Given the description of an element on the screen output the (x, y) to click on. 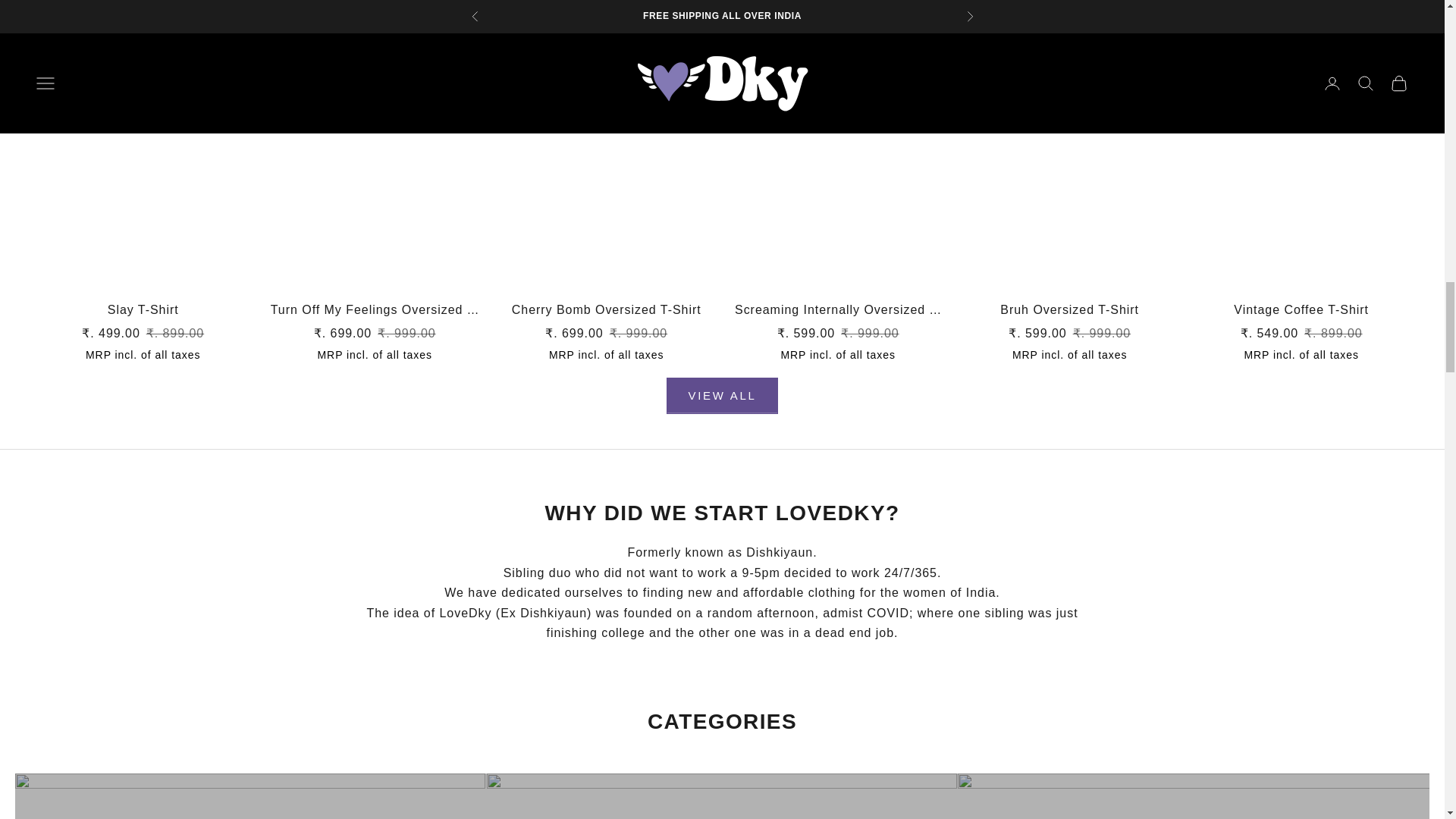
Bruh Oversized T-Shirt (1069, 310)
Vintage Coffee T-Shirt (1300, 310)
Slay T-Shirt (143, 310)
Cherry Bomb Oversized T-Shirt (606, 310)
Screaming Internally Oversized T-Shirt (836, 310)
Turn Off My Feelings Oversized T-Shirt (373, 310)
